Given the description of an element on the screen output the (x, y) to click on. 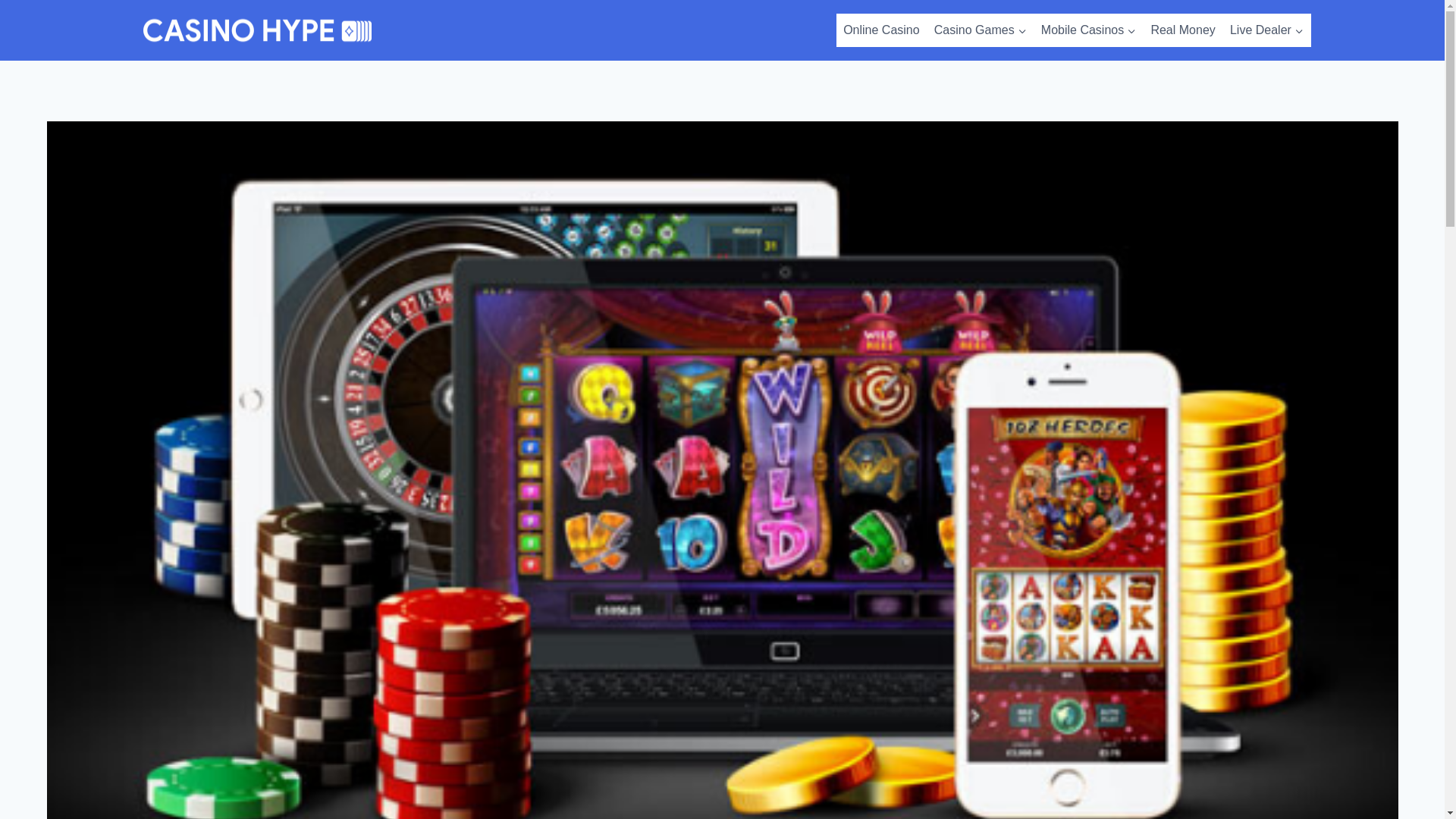
Online Casino (881, 30)
Mobile Casinos (1087, 30)
Live Dealer (1266, 30)
Real Money (1182, 30)
Casino Games (979, 30)
